Given the description of an element on the screen output the (x, y) to click on. 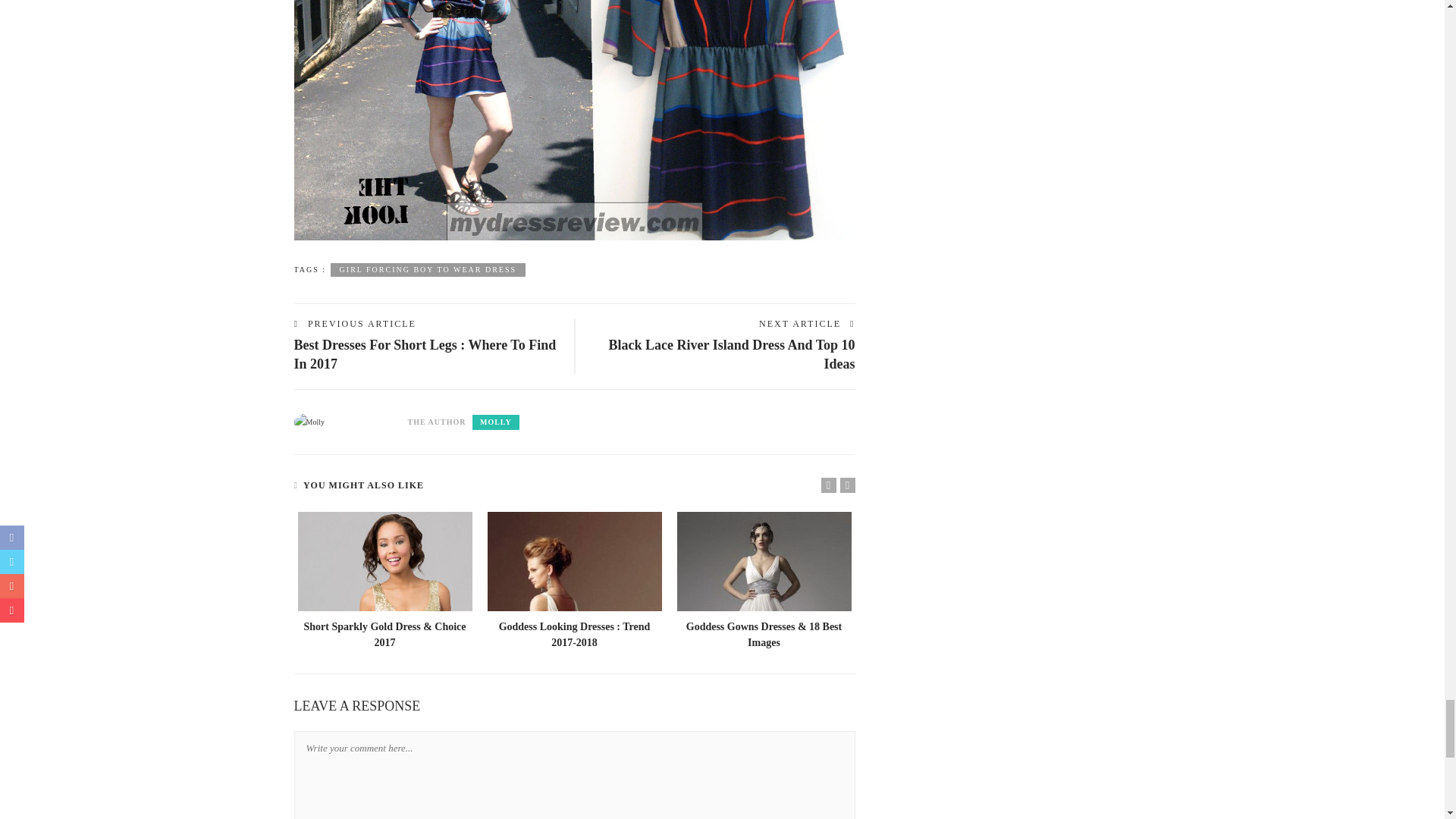
GIRL FORCING BOY TO WEAR DRESS (427, 269)
Best Dresses For Short Legs : Where To Find In 2017 (425, 353)
Black Lace River Island Dress And Top 10 Ideas (732, 353)
MOLLY (495, 421)
